Given the description of an element on the screen output the (x, y) to click on. 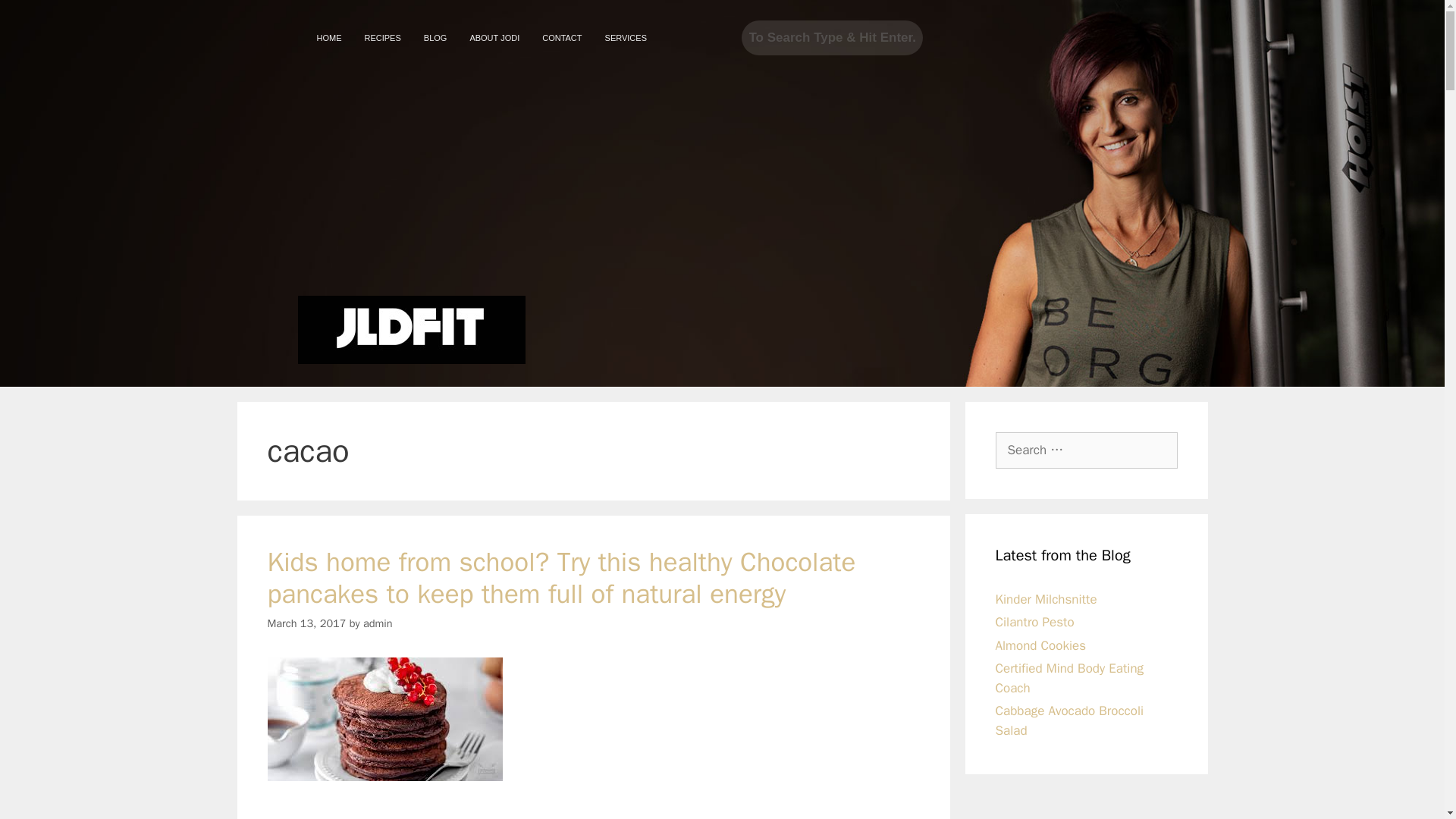
Search (832, 37)
View all posts by admin (377, 622)
ABOUT JODI (494, 37)
CONTACT (561, 37)
SERVICES (626, 37)
admin (377, 622)
Search for: (1085, 450)
BLOG (435, 37)
RECIPES (382, 37)
HOME (328, 37)
